Given the description of an element on the screen output the (x, y) to click on. 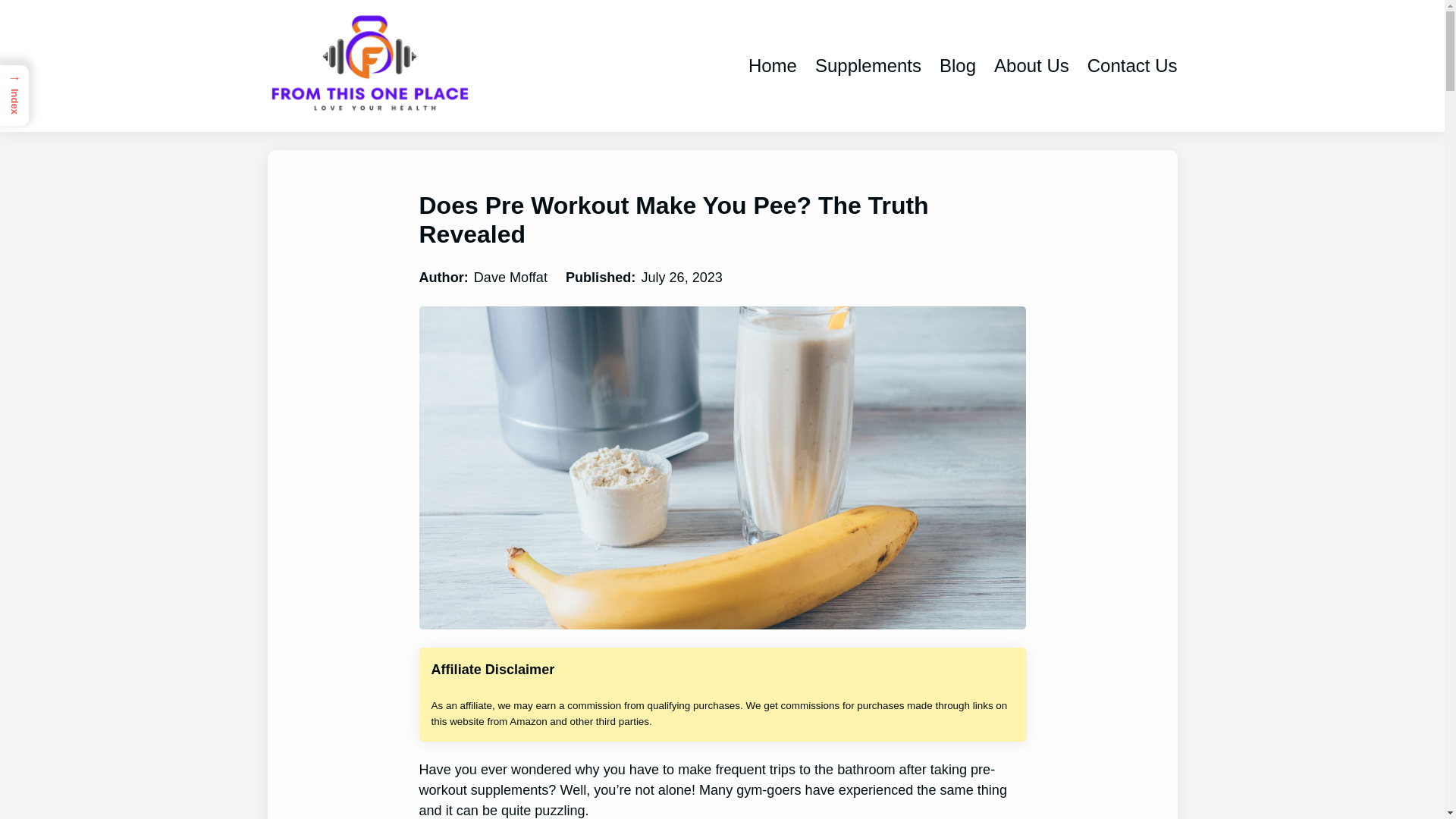
Home (772, 65)
Blog (957, 65)
About Us (1031, 65)
Supplements (868, 65)
Contact Us (1132, 65)
